Given the description of an element on the screen output the (x, y) to click on. 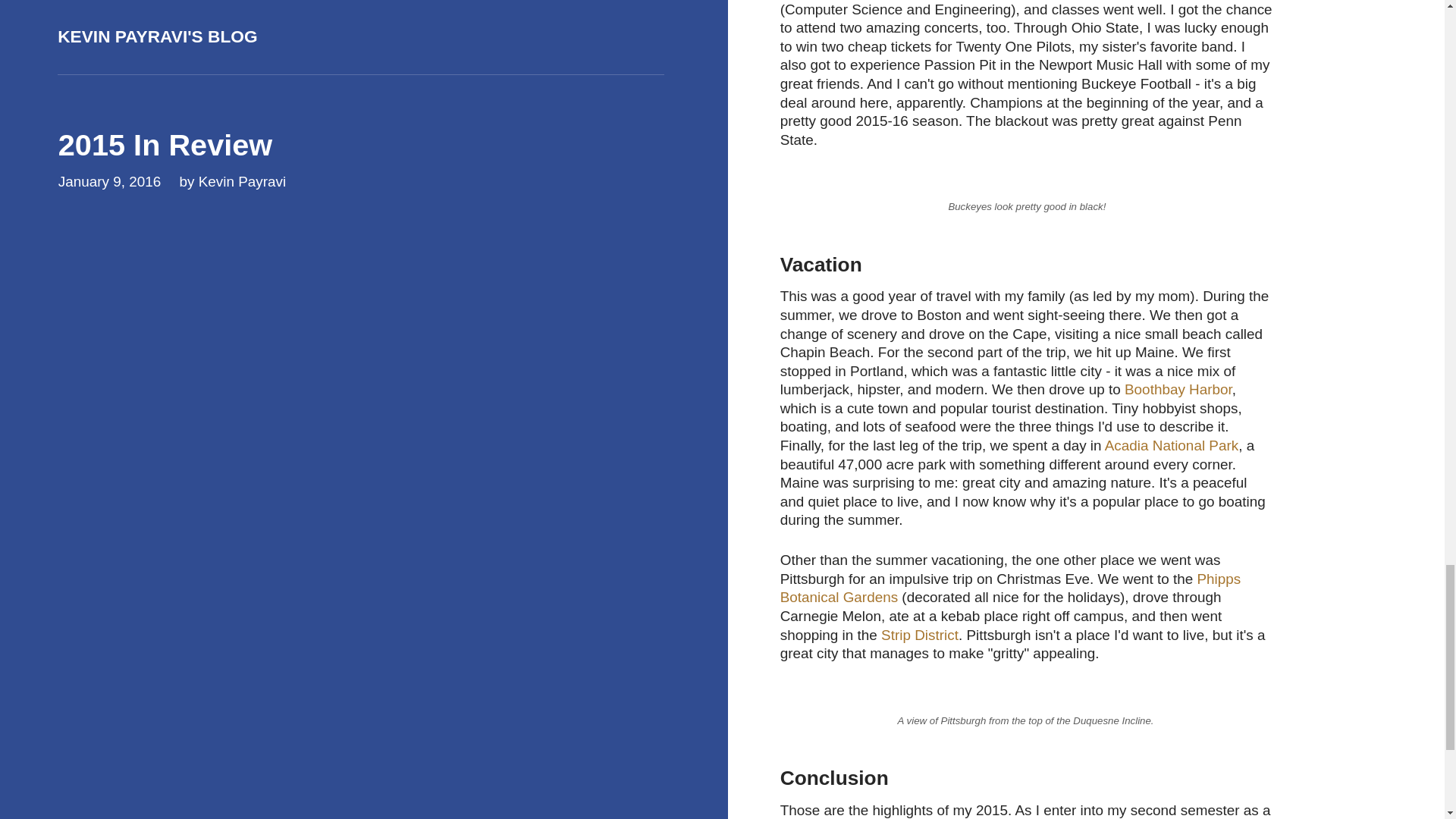
Boothbay Harbor (1177, 389)
Phipps Botanical Gardens (1010, 588)
Strip District (919, 634)
Acadia National Park (1172, 445)
